Given the description of an element on the screen output the (x, y) to click on. 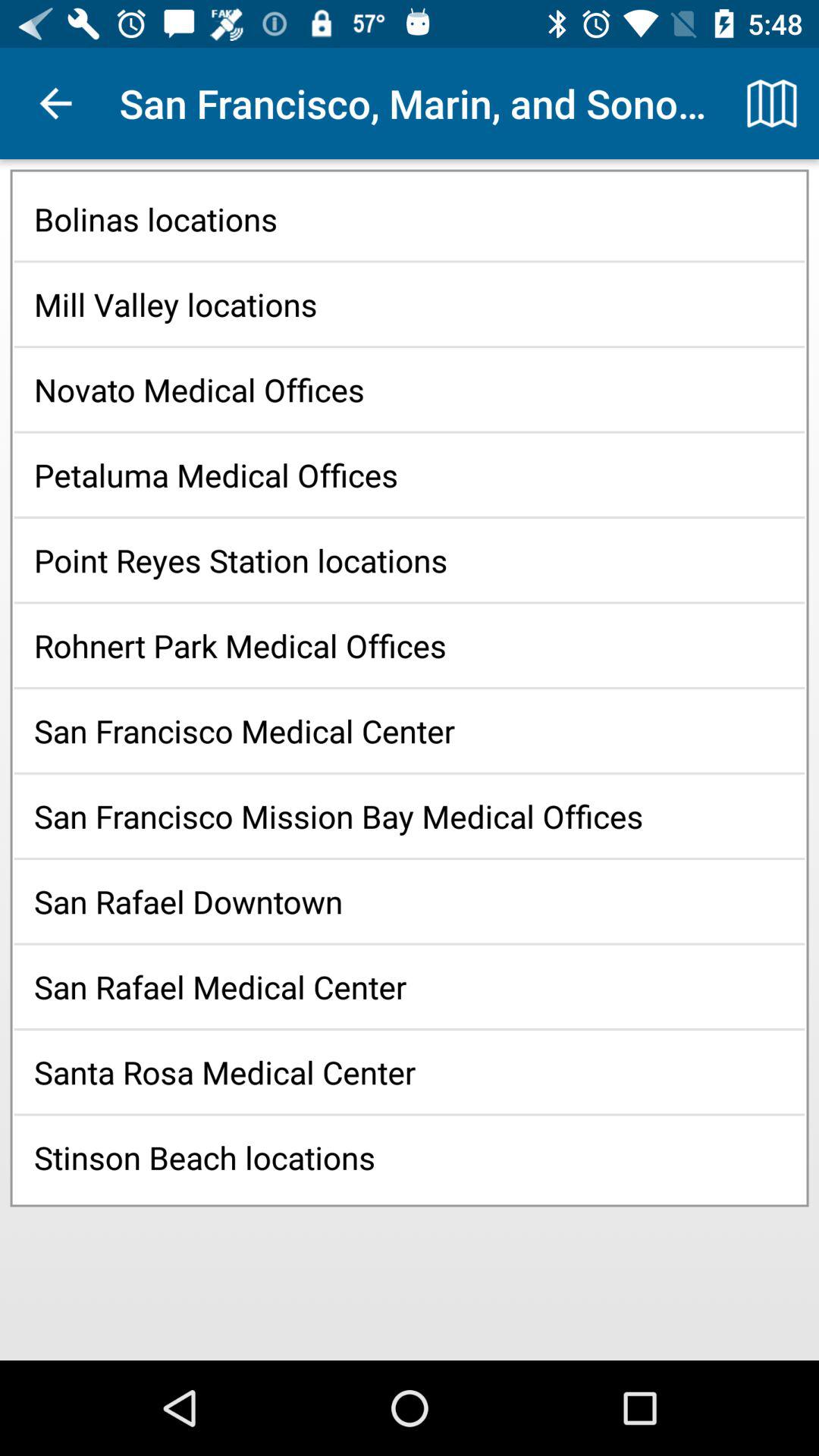
scroll until bolinas locations icon (409, 218)
